Given the description of an element on the screen output the (x, y) to click on. 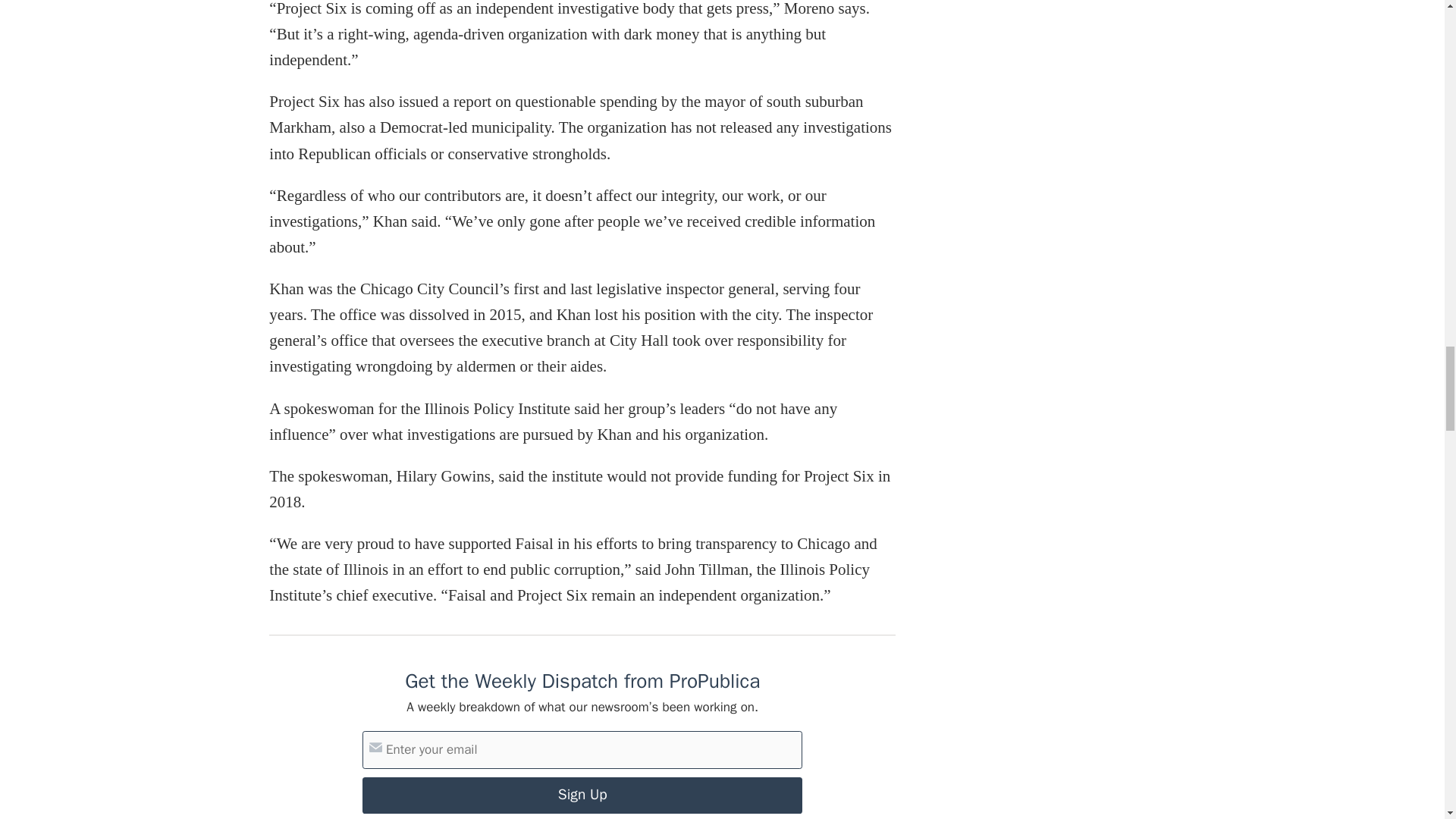
Sign Up (582, 795)
Sign Up (582, 795)
